Given the description of an element on the screen output the (x, y) to click on. 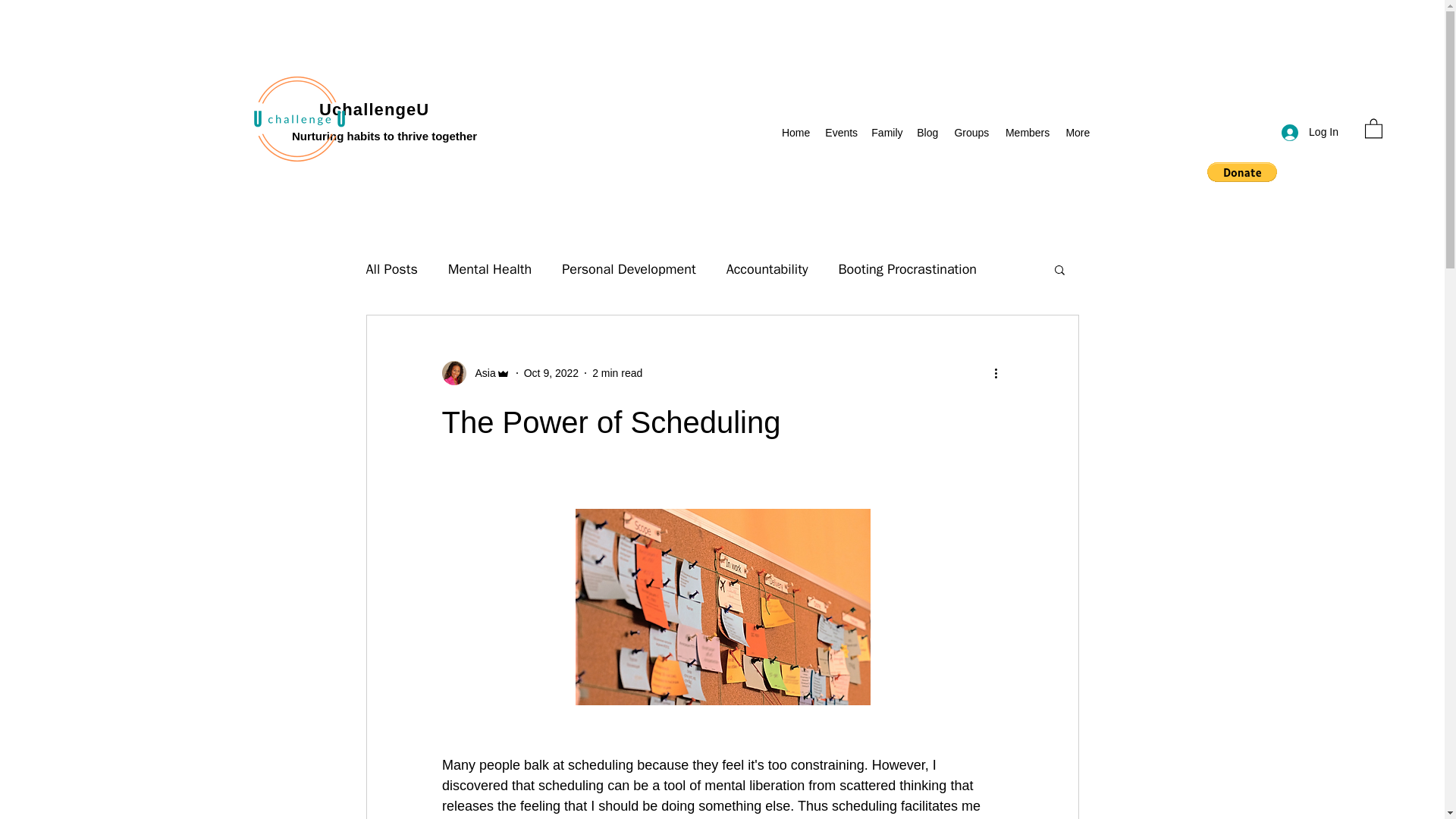
Accountability (767, 269)
Asia (475, 372)
Blog (926, 132)
Personal Development (628, 269)
Mental Health (489, 269)
Home (794, 132)
Members (1026, 132)
UchallengeU (373, 108)
Asia  (480, 373)
All Posts (390, 269)
